Given the description of an element on the screen output the (x, y) to click on. 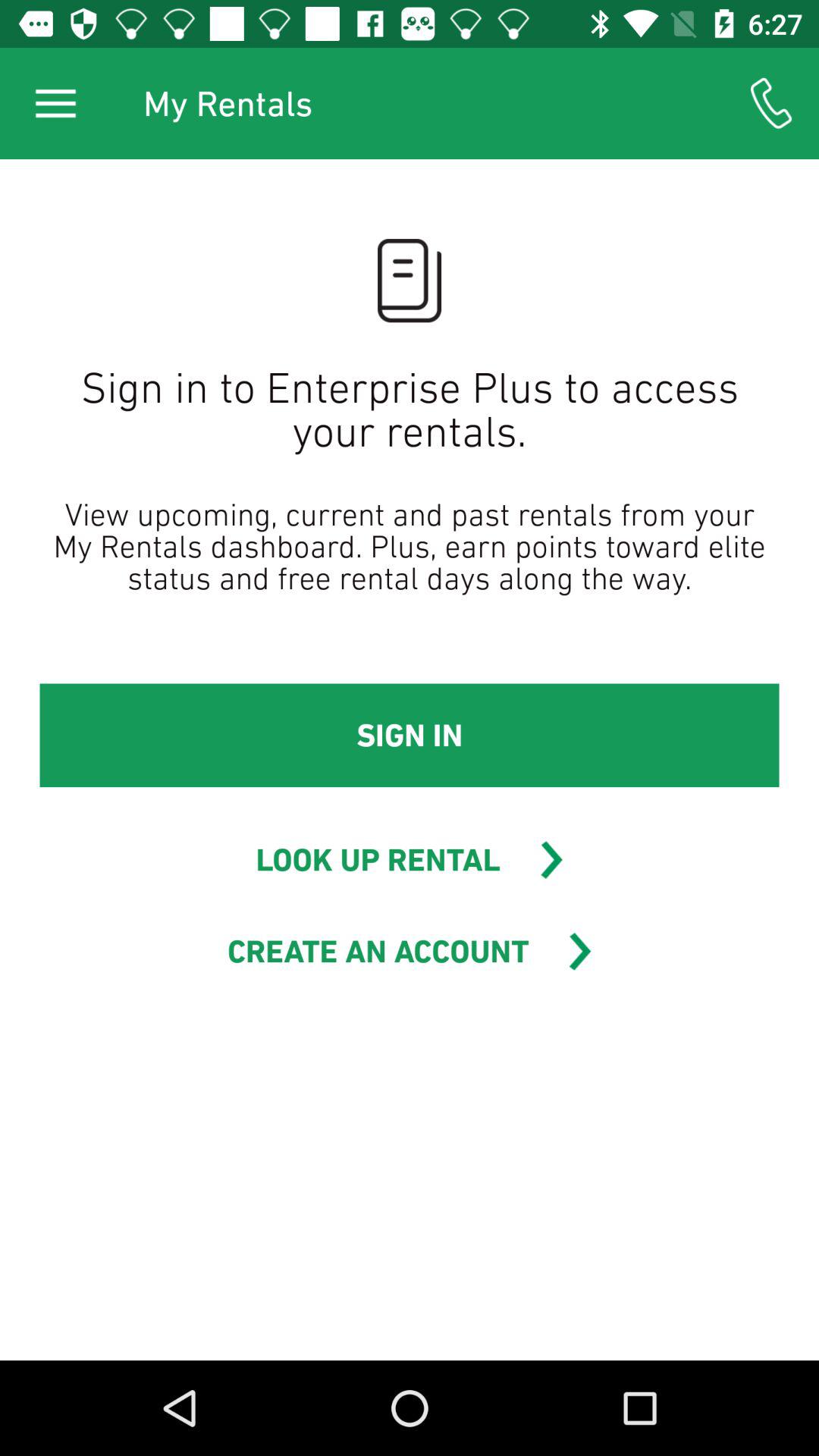
turn off the icon below sign in (377, 859)
